Given the description of an element on the screen output the (x, y) to click on. 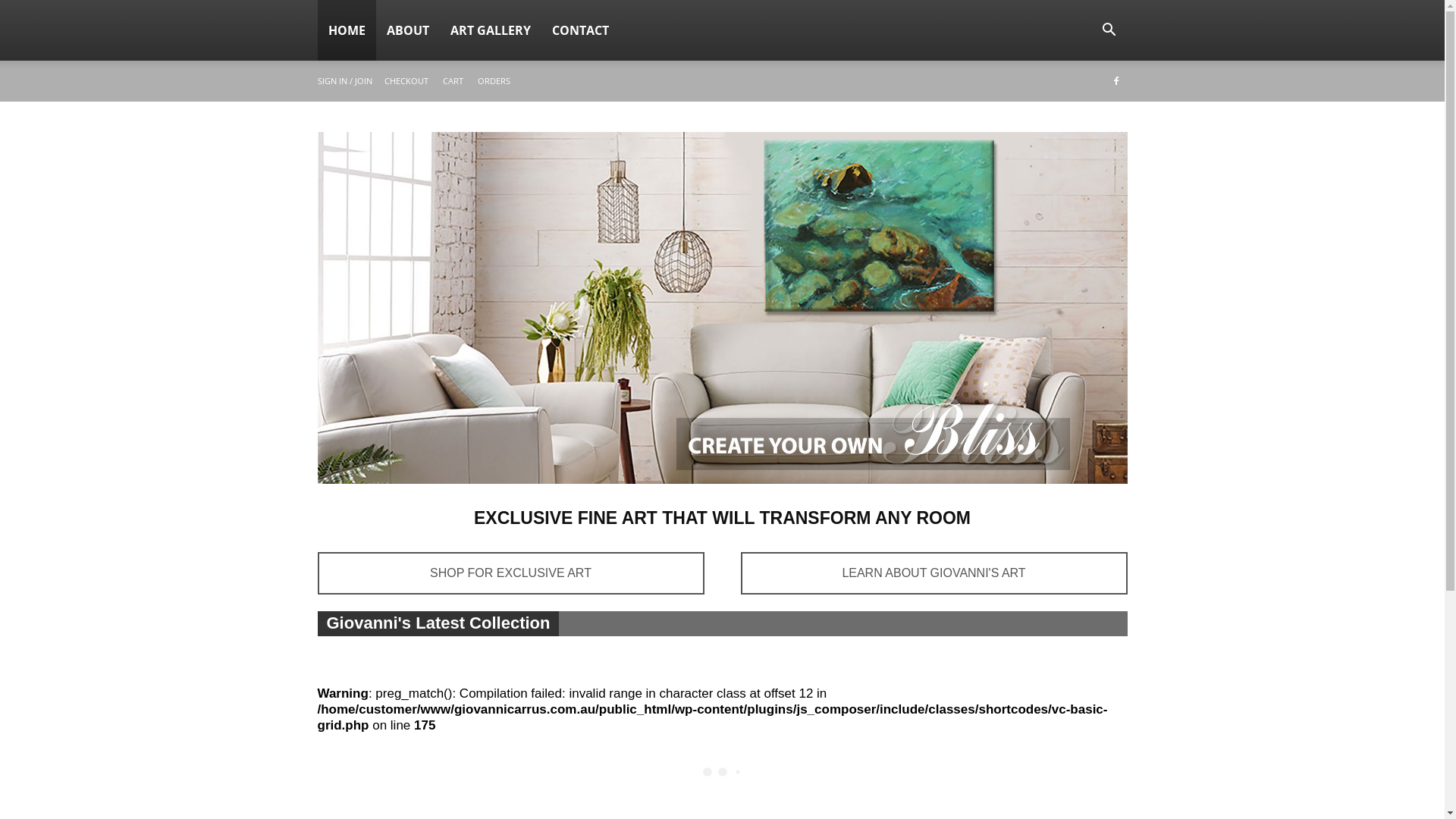
ORDERS Element type: text (493, 80)
CONTACT Element type: text (580, 30)
ART GALLERY Element type: text (490, 30)
CART Element type: text (452, 80)
LEARN ABOUT GIOVANNI'S ART Element type: text (933, 573)
SIGN IN / JOIN Element type: text (343, 80)
Search Element type: text (1072, 103)
ABOUT Element type: text (407, 30)
HOME Element type: text (345, 30)
CHECKOUT Element type: text (405, 80)
Facebook Element type: hover (1115, 80)
SHOP FOR EXCLUSIVE ART Element type: text (509, 573)
